Given the description of an element on the screen output the (x, y) to click on. 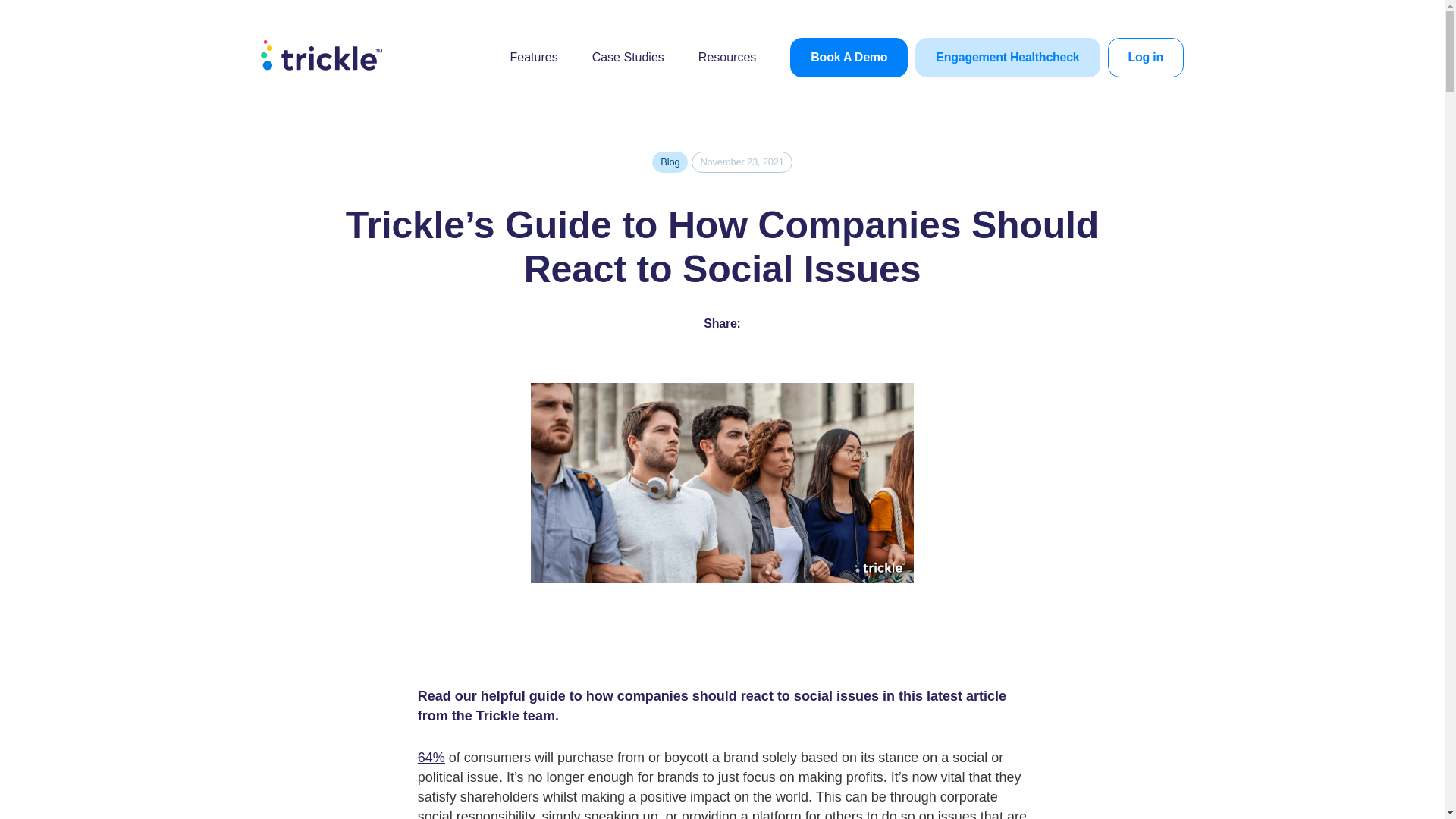
Case Studies (627, 56)
Trickle (320, 55)
Log in (1145, 56)
Book A Demo (848, 56)
Features (534, 56)
Resources (726, 56)
Engagement Healthcheck (1007, 56)
